Given the description of an element on the screen output the (x, y) to click on. 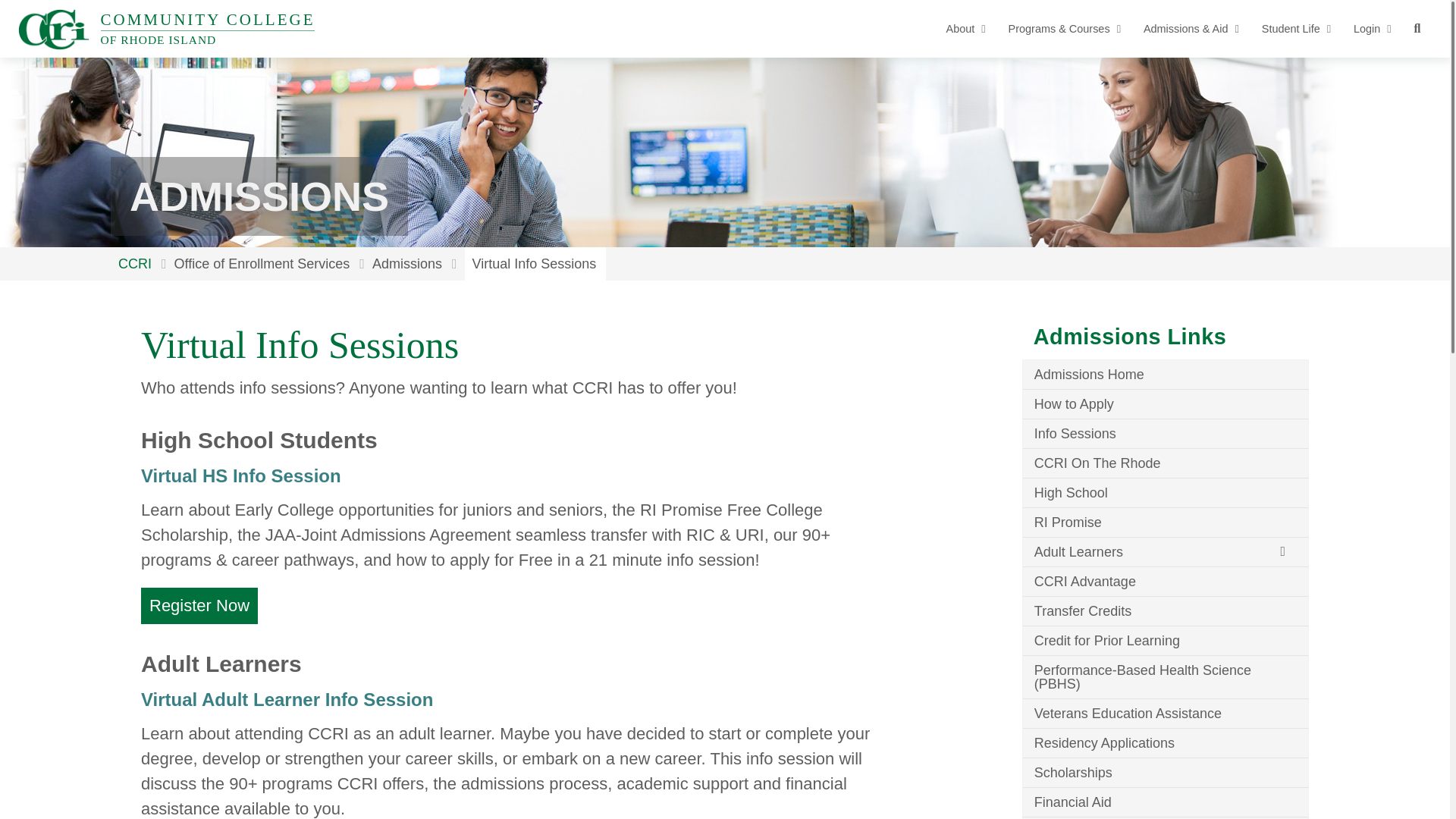
About (965, 28)
Skip to Main Content (10, 11)
